Given the description of an element on the screen output the (x, y) to click on. 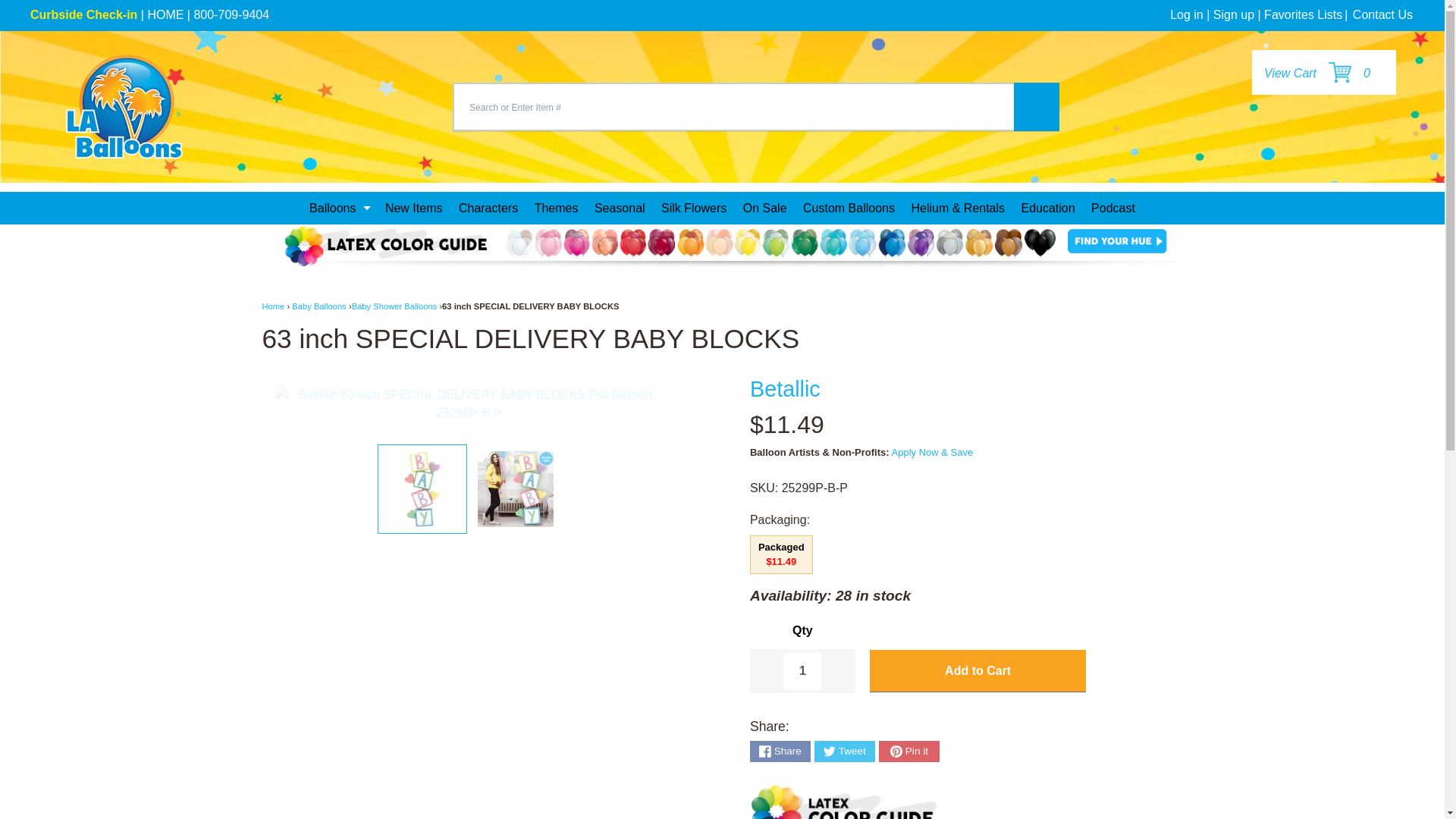
Contact Us (1382, 14)
1 (802, 670)
Themes (556, 207)
Seasonal (619, 207)
View Cart0 (1316, 72)
Characters (488, 207)
On Sale (764, 207)
Favorites Lists (1302, 14)
Baby Balloons (319, 306)
HOME (165, 14)
